Given the description of an element on the screen output the (x, y) to click on. 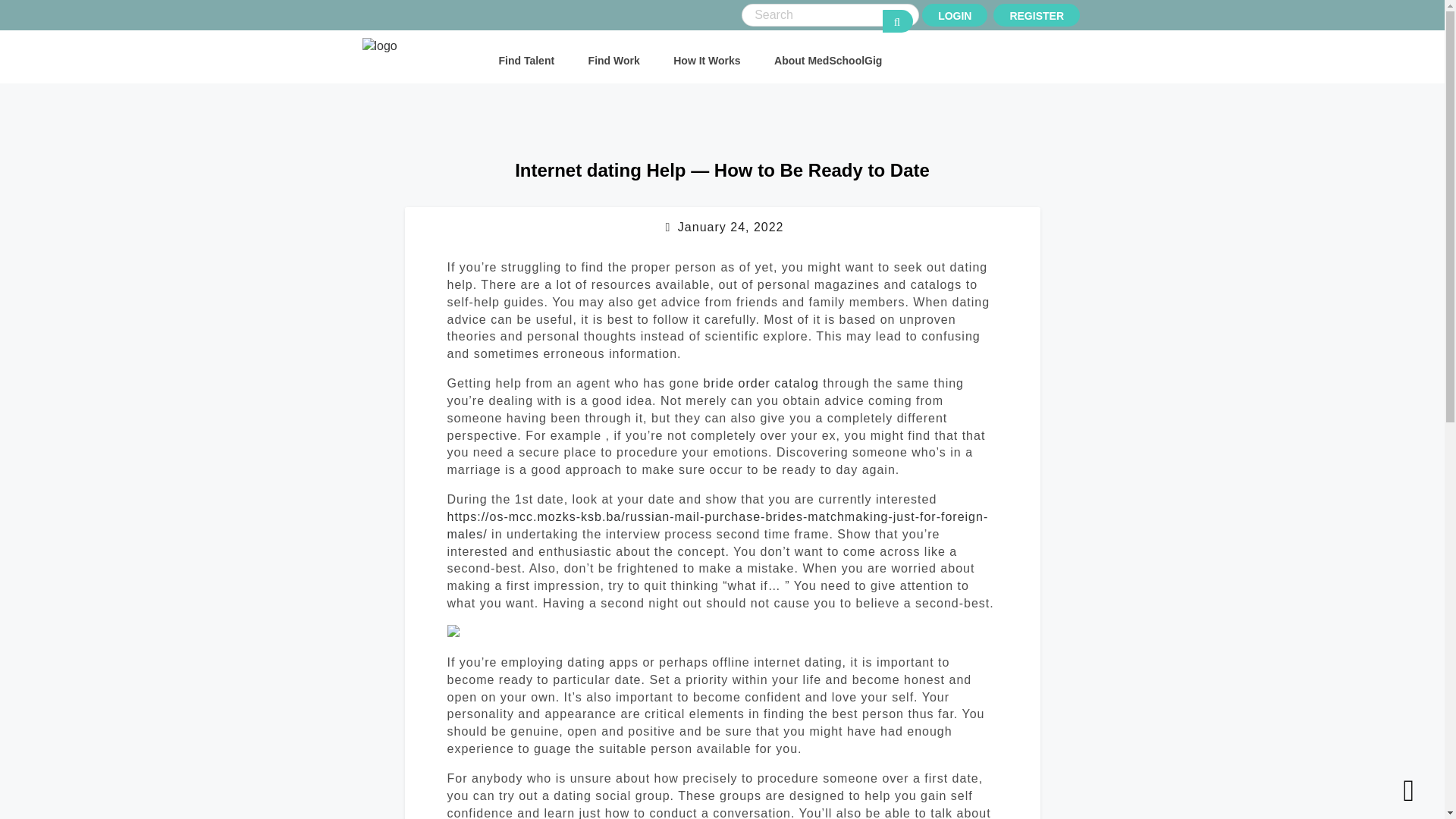
REGISTER (1036, 15)
About MedSchoolGig (828, 60)
Find Work (614, 60)
How It Works (705, 60)
bride order catalog (760, 382)
Find Talent (526, 60)
LOGIN (954, 15)
